Given the description of an element on the screen output the (x, y) to click on. 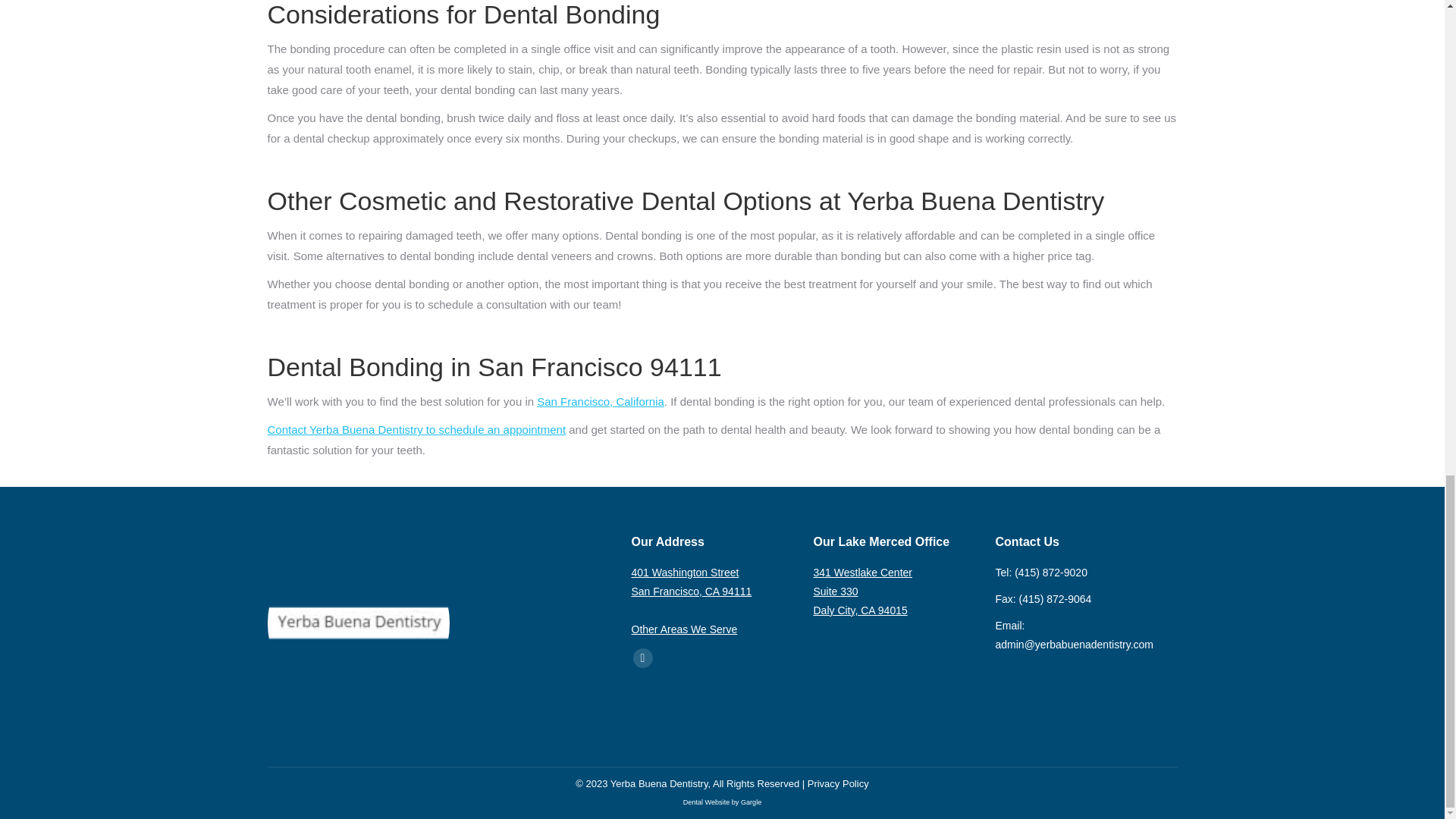
Facebook page opens in new window (641, 658)
